Given the description of an element on the screen output the (x, y) to click on. 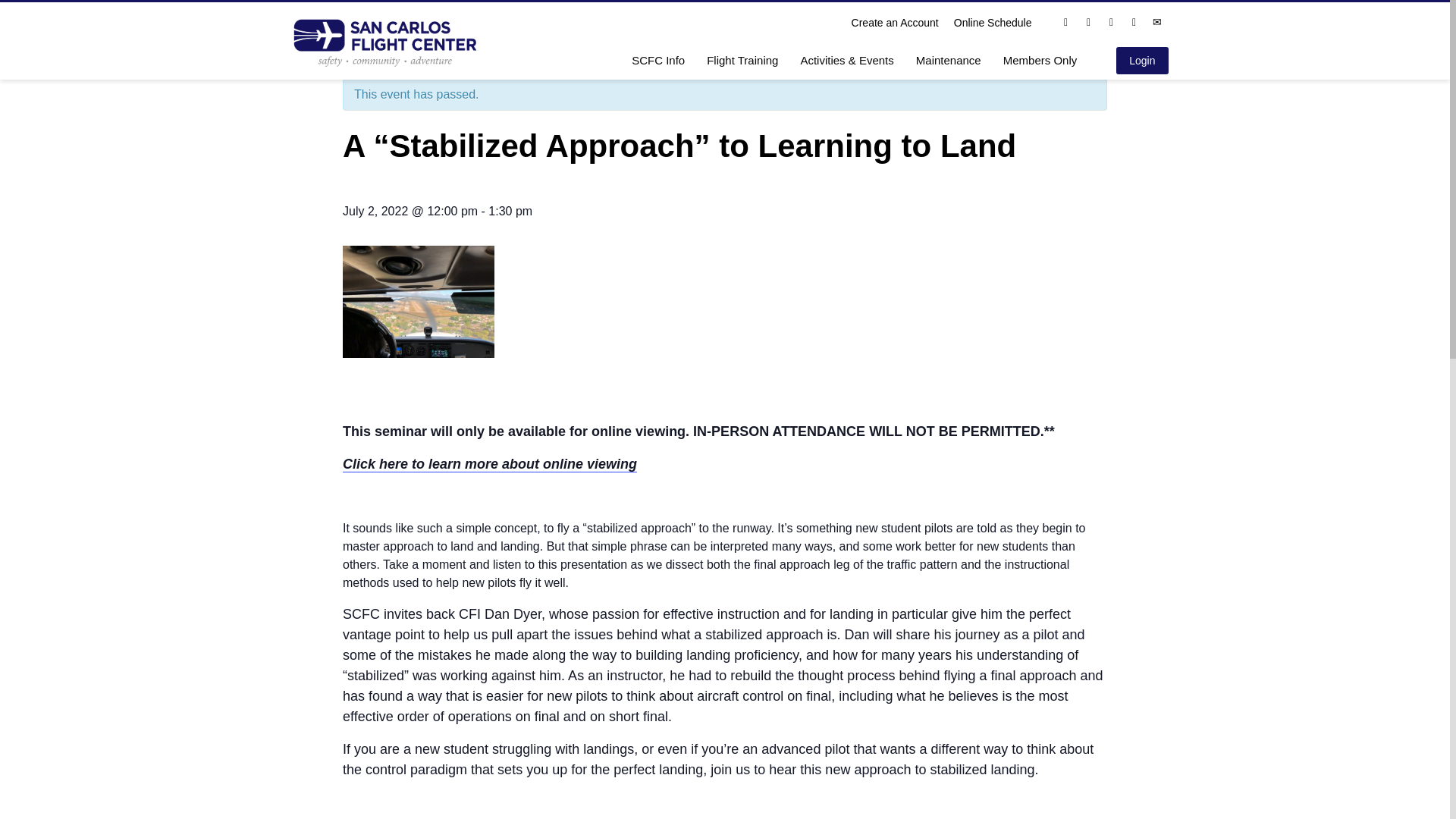
Email (1157, 22)
Flight Training (742, 59)
Login (1141, 60)
Create an Account (895, 22)
SCFC Info (658, 59)
Instagram (1088, 22)
Facebook (1065, 22)
Twitter (1111, 22)
YouTube (1133, 22)
Online Schedule (992, 22)
